Given the description of an element on the screen output the (x, y) to click on. 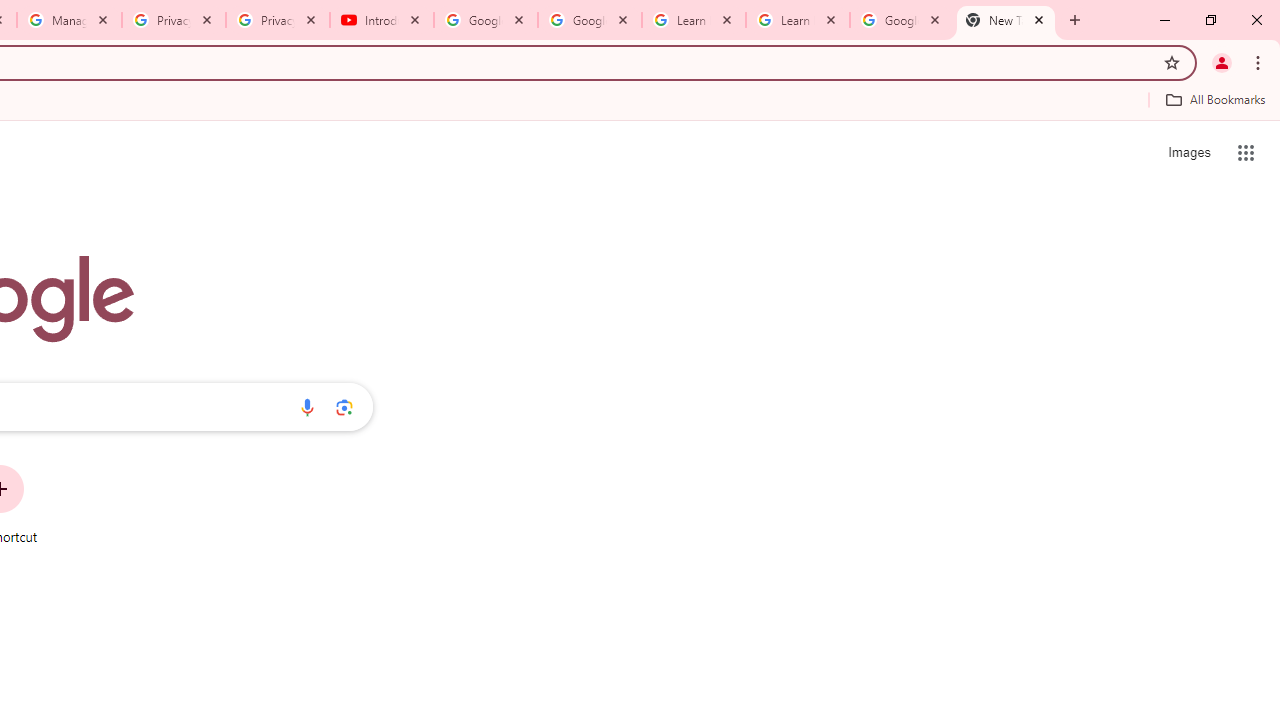
Google Account (901, 20)
New Tab (1005, 20)
Google Account Help (589, 20)
Search by voice (307, 407)
